Given the description of an element on the screen output the (x, y) to click on. 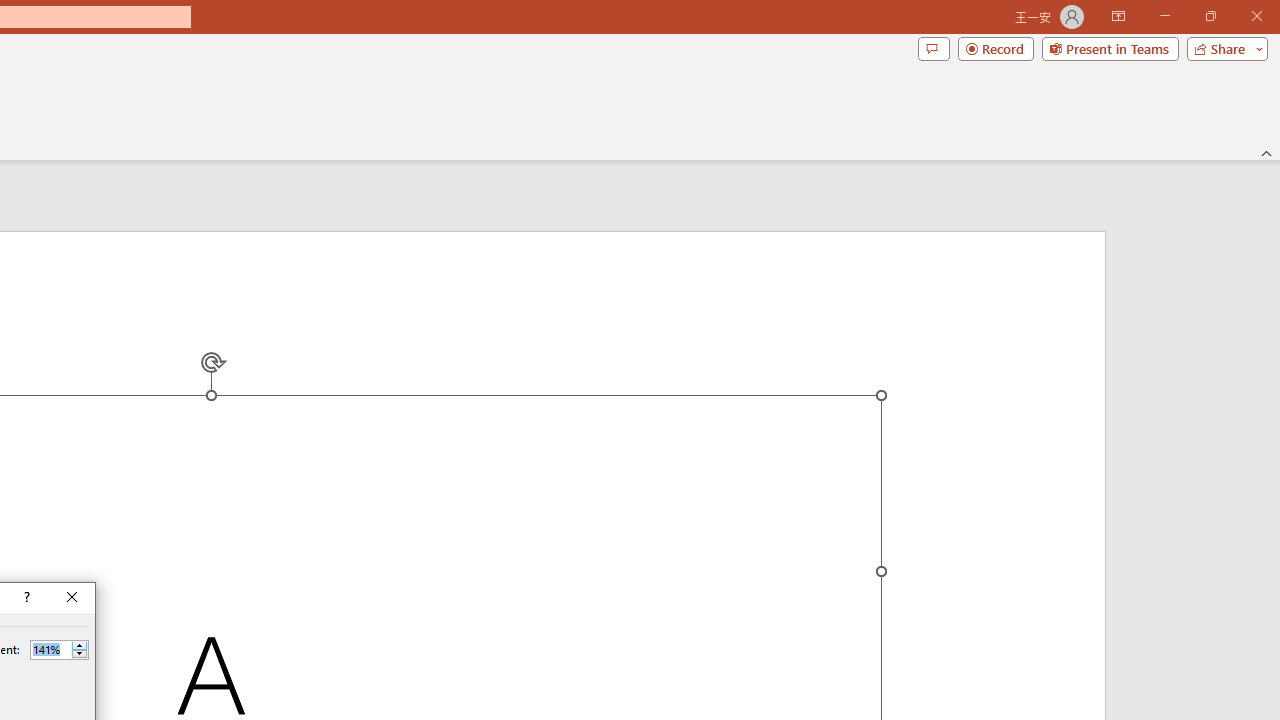
More (79, 645)
Percent (50, 649)
Context help (25, 597)
Percent (59, 650)
Less (79, 654)
